Given the description of an element on the screen output the (x, y) to click on. 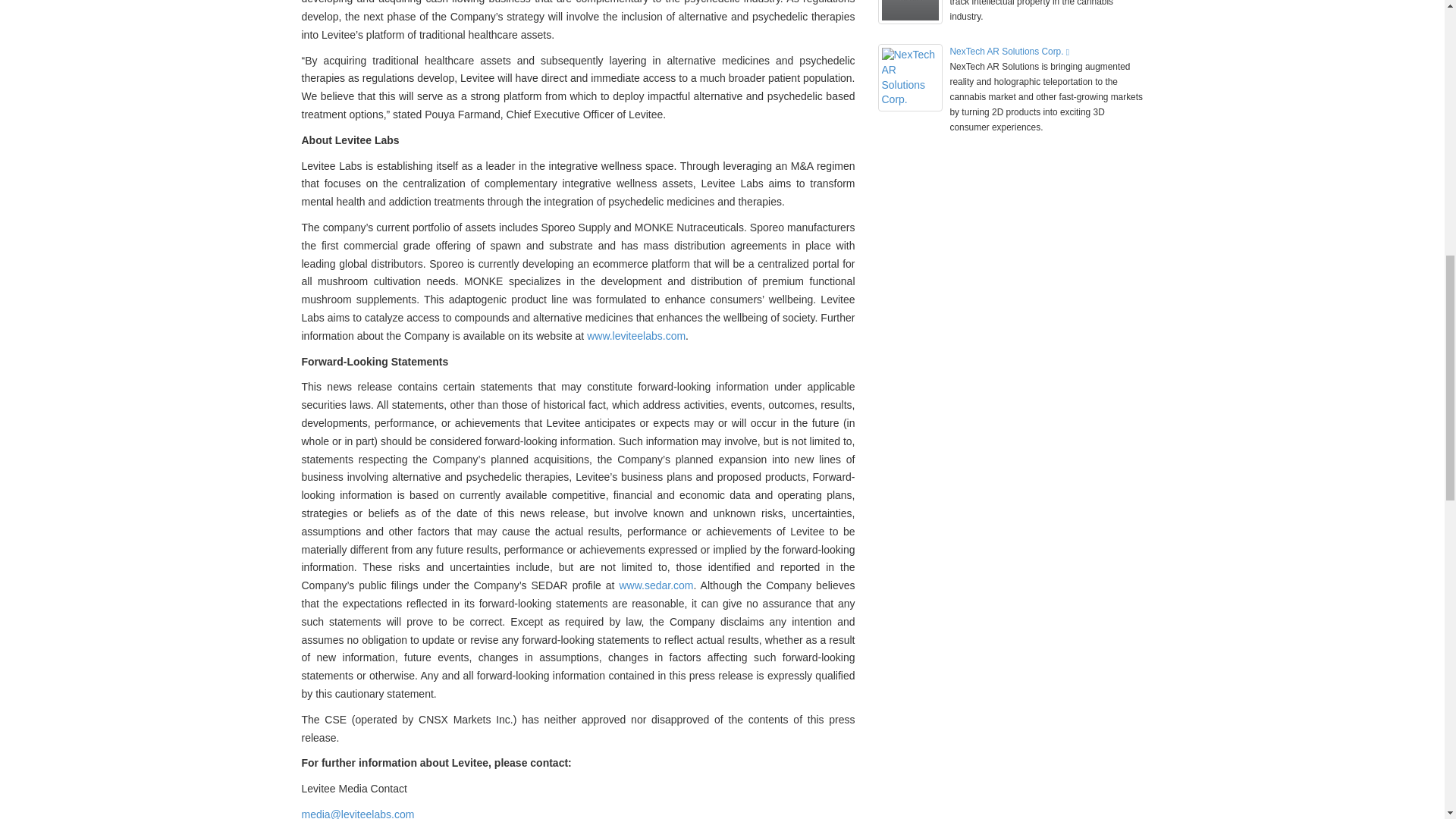
NexTech AR Solutions Corp. (1008, 50)
www.sedar.com (655, 585)
www.leviteelabs.com (635, 336)
